Given the description of an element on the screen output the (x, y) to click on. 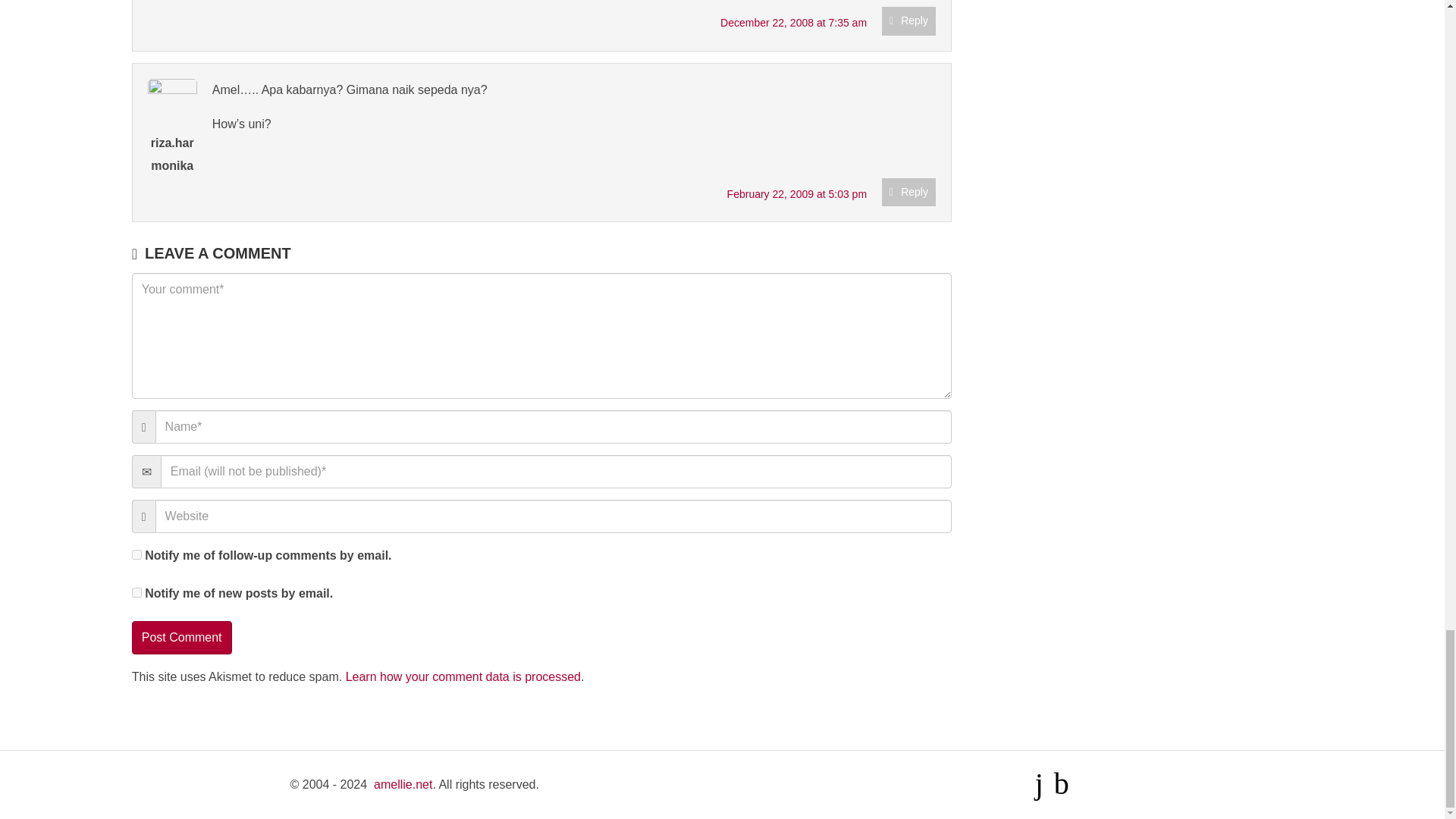
subscribe (136, 554)
subscribe (136, 592)
Post Comment (181, 637)
